Given the description of an element on the screen output the (x, y) to click on. 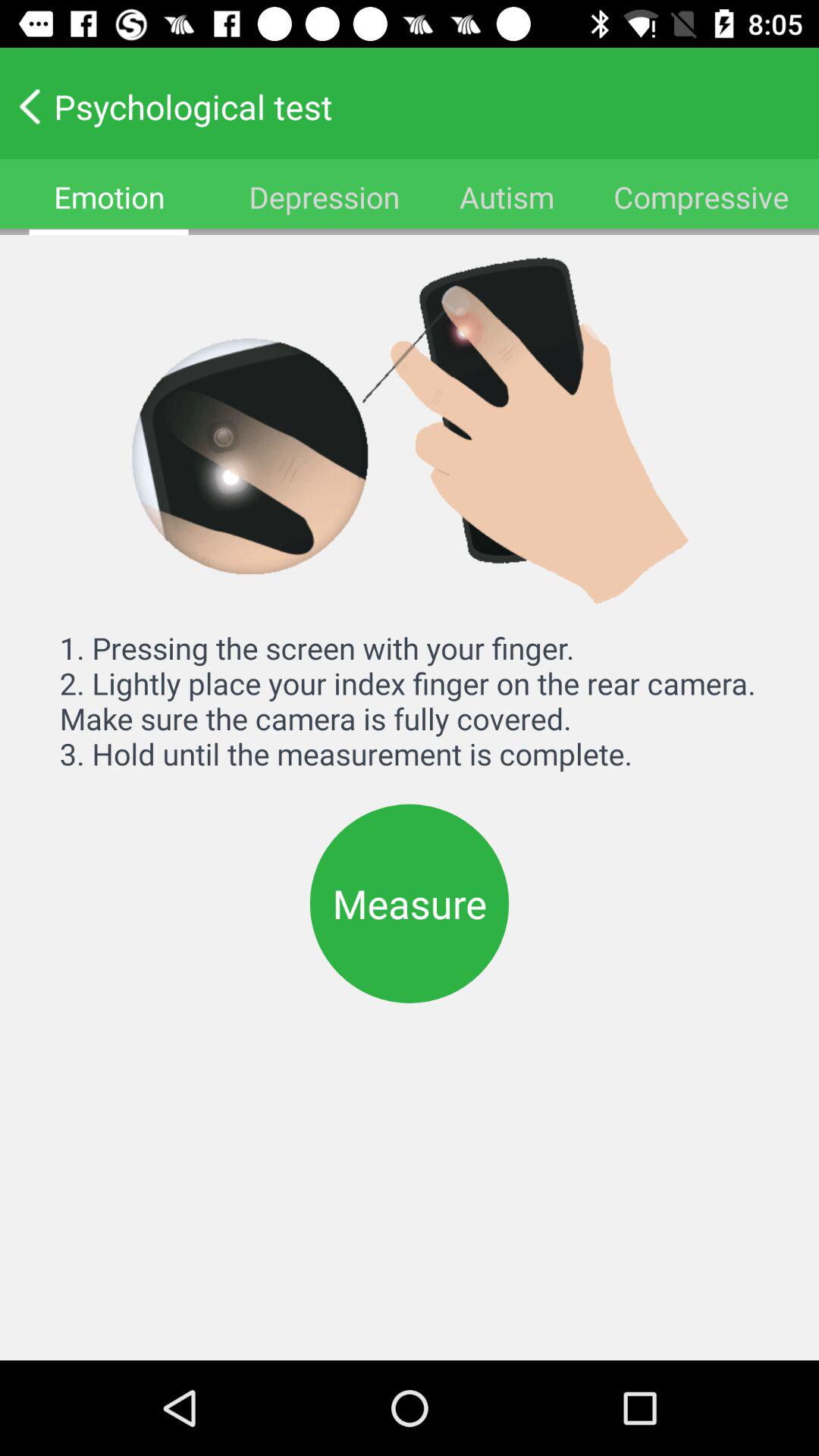
tap measure (409, 903)
